Given the description of an element on the screen output the (x, y) to click on. 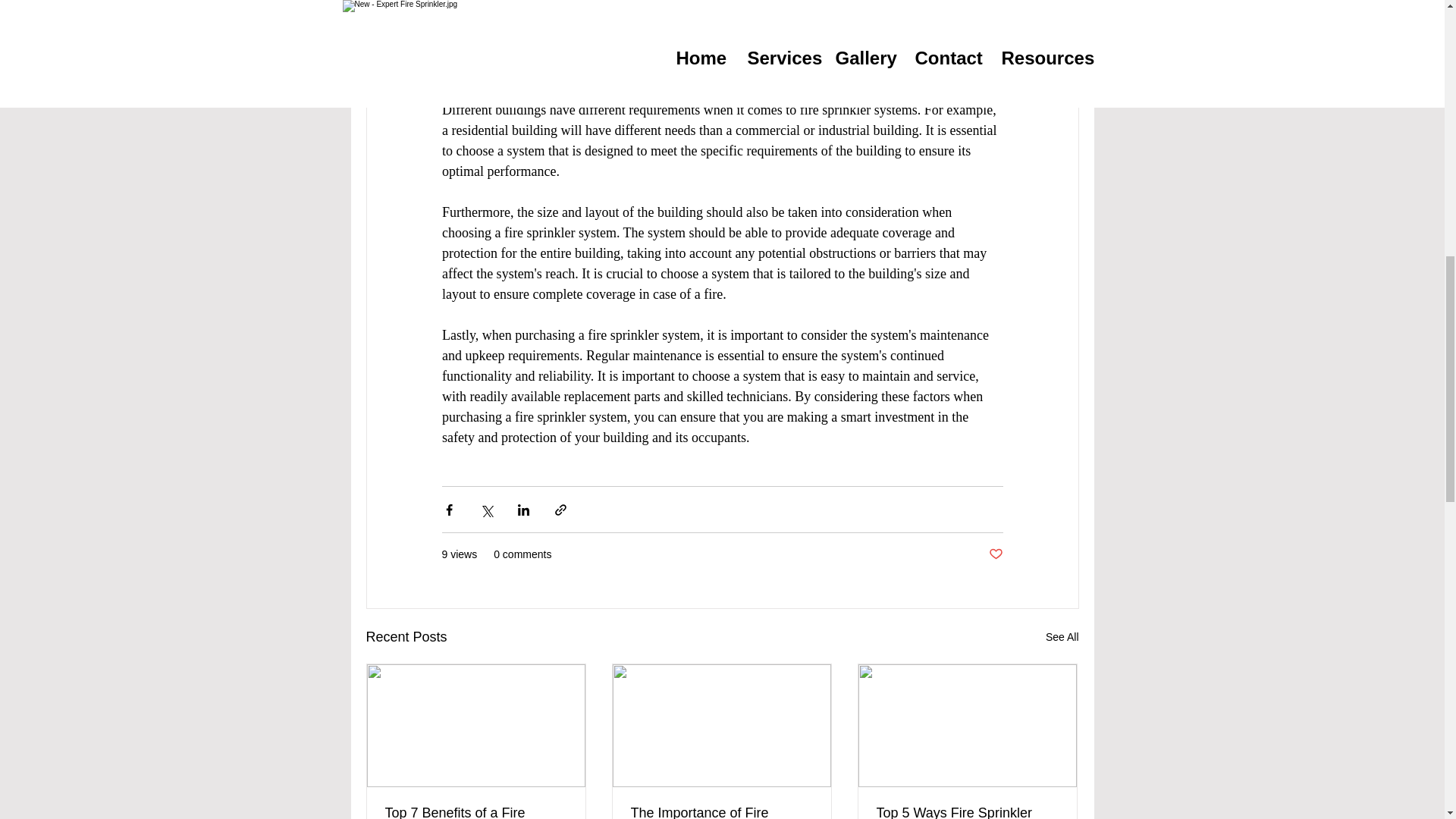
See All (1061, 637)
The Importance of Fire Sprinkler Systems in Schools (721, 812)
Post not marked as liked (995, 554)
Top 5 Ways Fire Sprinkler Systems are Beneficial (967, 812)
Top 7 Benefits of a Fire Suppression Sprinkler System (476, 812)
